Given the description of an element on the screen output the (x, y) to click on. 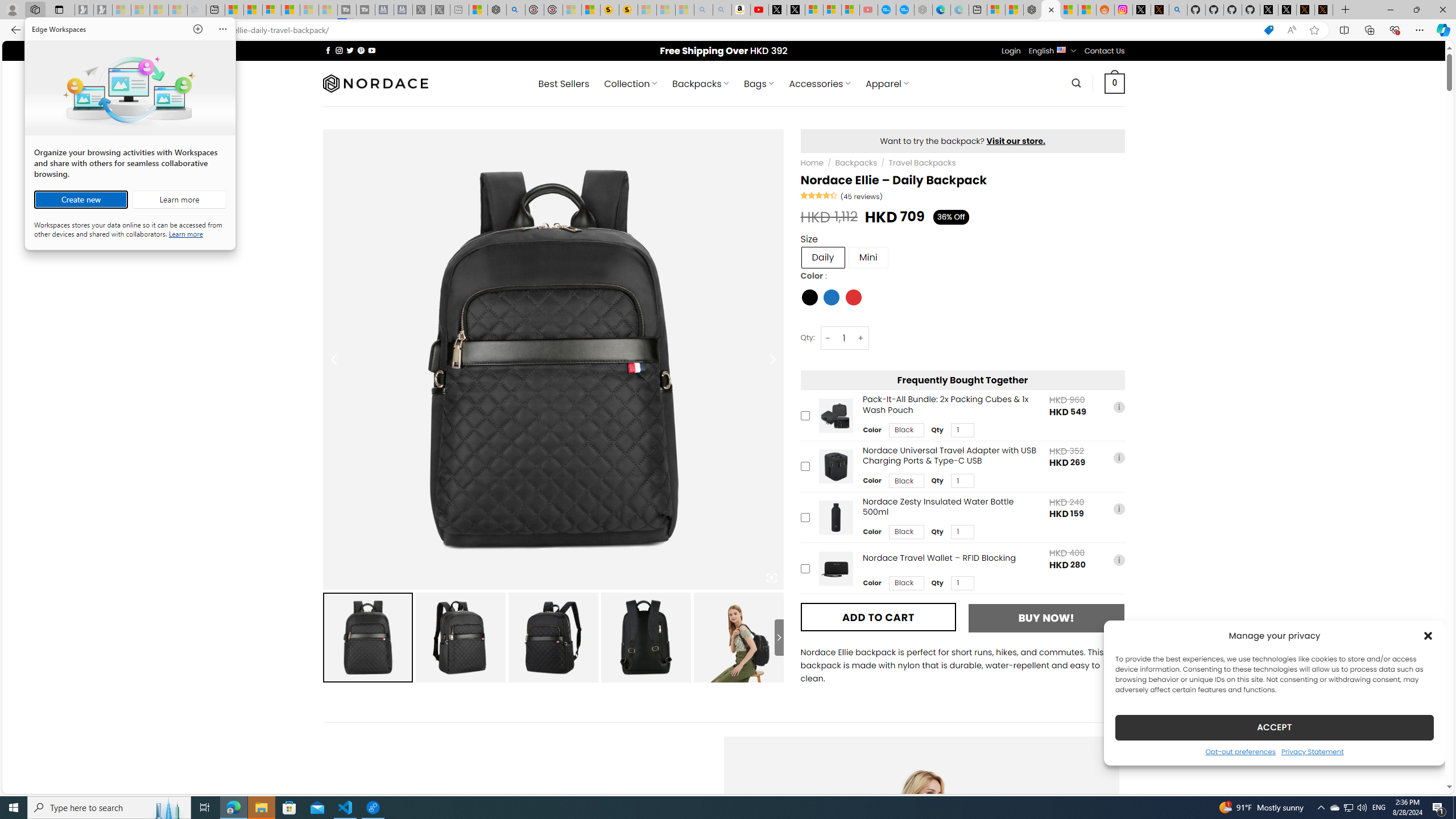
Show desktop (1454, 807)
Q2790: 100% (1361, 807)
github - Search (1178, 9)
+ (861, 337)
Class: cmplz-close (1428, 635)
poe - Search (515, 9)
English (1061, 49)
ADD TO CART (878, 617)
